Given the description of an element on the screen output the (x, y) to click on. 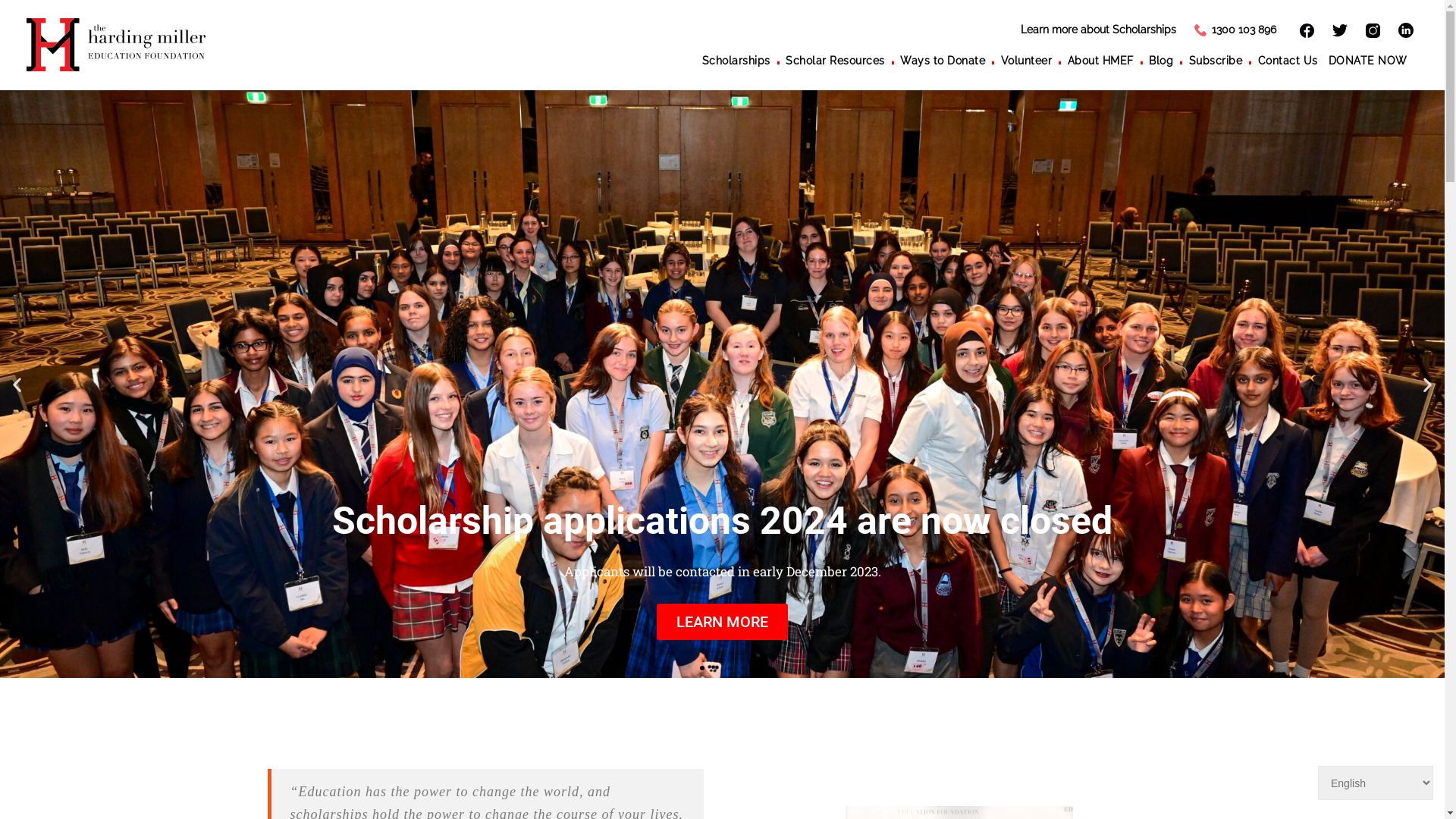
Contact Us Element type: text (1293, 58)
1300 103 896 Element type: text (1235, 29)
Scholar Resources Element type: text (842, 58)
Ways to Donate Element type: text (950, 58)
Learn more about Scholarships Element type: text (1098, 29)
DONATE NOW Element type: text (1373, 58)
Subscribe Element type: text (1223, 58)
Volunteer Element type: text (1034, 58)
Scholarships Element type: text (744, 58)
Blog Element type: text (1168, 58)
About HMEF Element type: text (1108, 58)
